Given the description of an element on the screen output the (x, y) to click on. 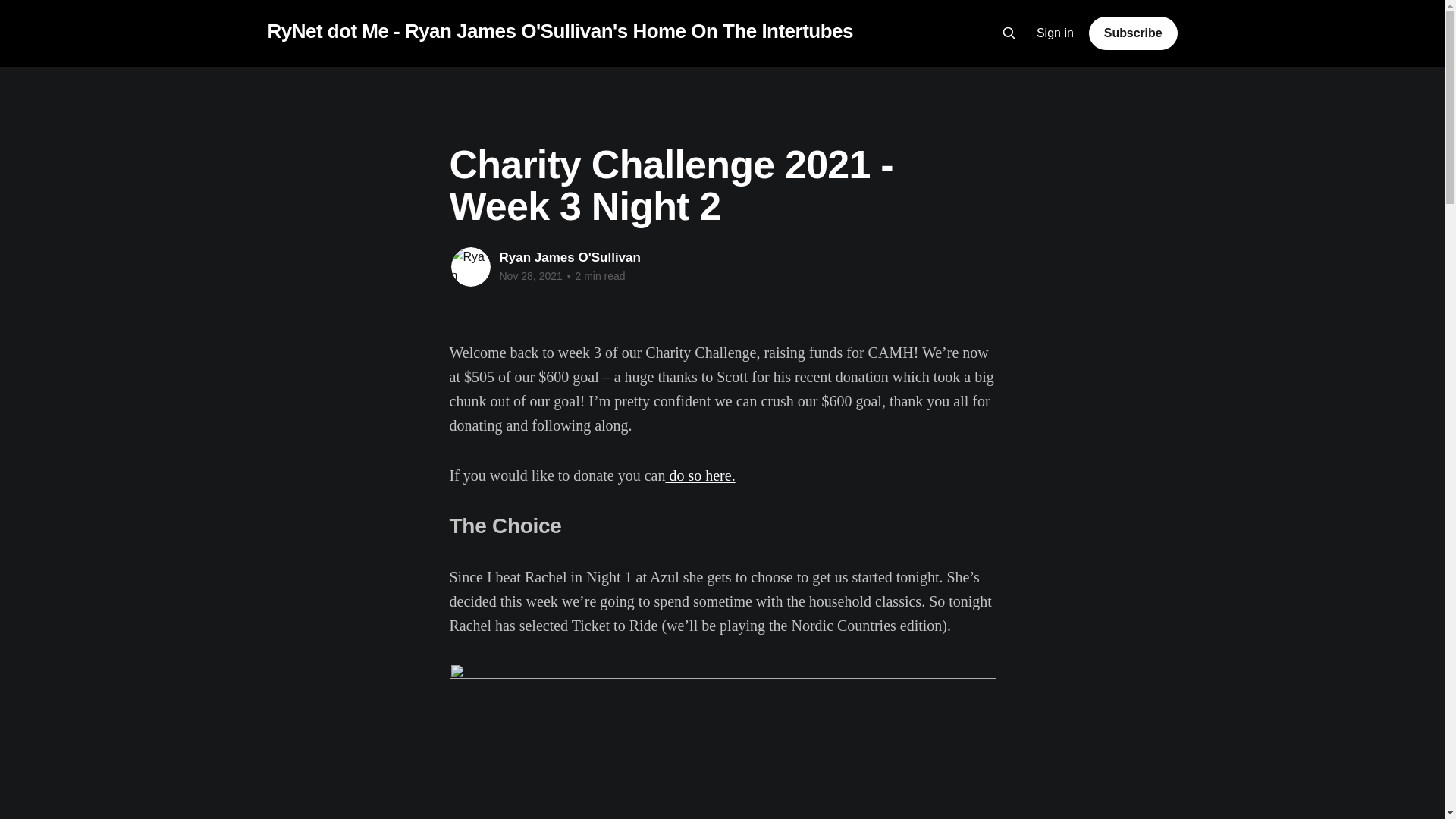
Sign in (1055, 33)
Subscribe (1133, 32)
do so here. (700, 475)
Ryan James O'Sullivan (569, 257)
